Given the description of an element on the screen output the (x, y) to click on. 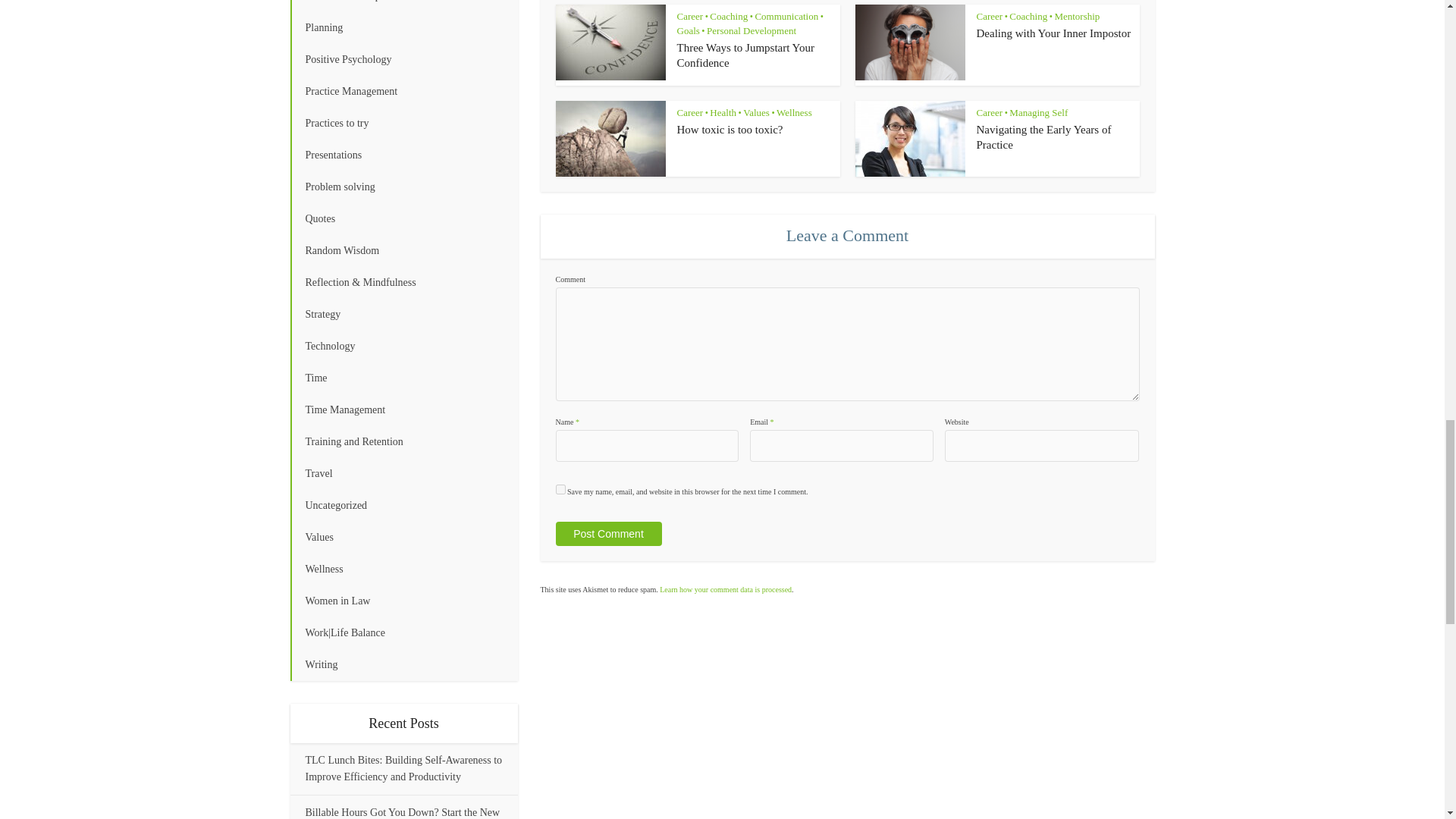
Post Comment (607, 533)
Planning (402, 28)
Three Ways to Jumpstart Your Confidence (745, 54)
How toxic is too toxic? (730, 129)
Dealing with Your Inner Impostor (1053, 33)
Navigating the Early Years of Practice (1044, 136)
Personal Development (402, 6)
yes (559, 489)
